Given the description of an element on the screen output the (x, y) to click on. 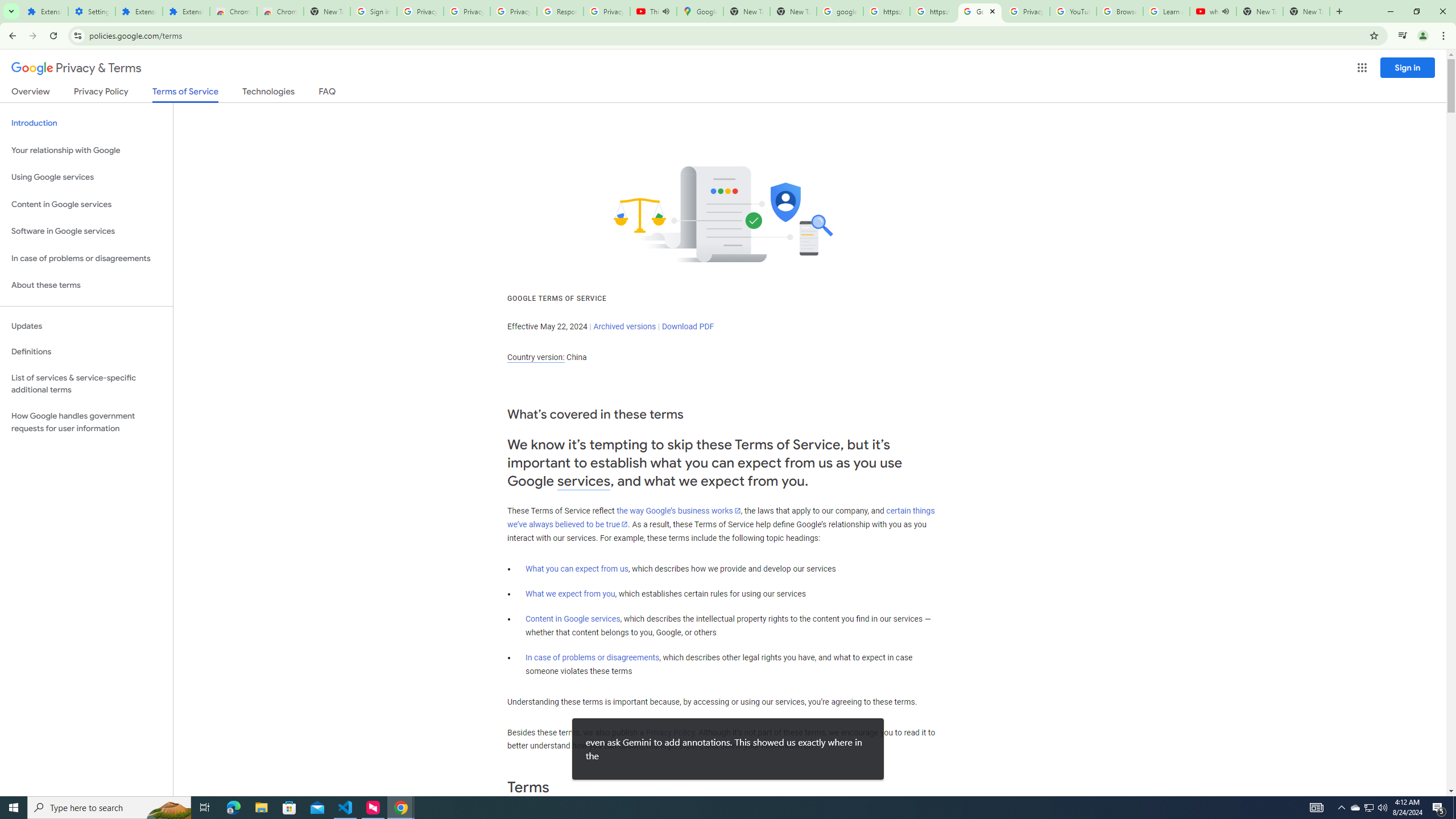
YouTube (1073, 11)
Content in Google services (572, 618)
List of services & service-specific additional terms (86, 383)
Extensions (44, 11)
Extensions (138, 11)
Using Google services (86, 176)
